Given the description of an element on the screen output the (x, y) to click on. 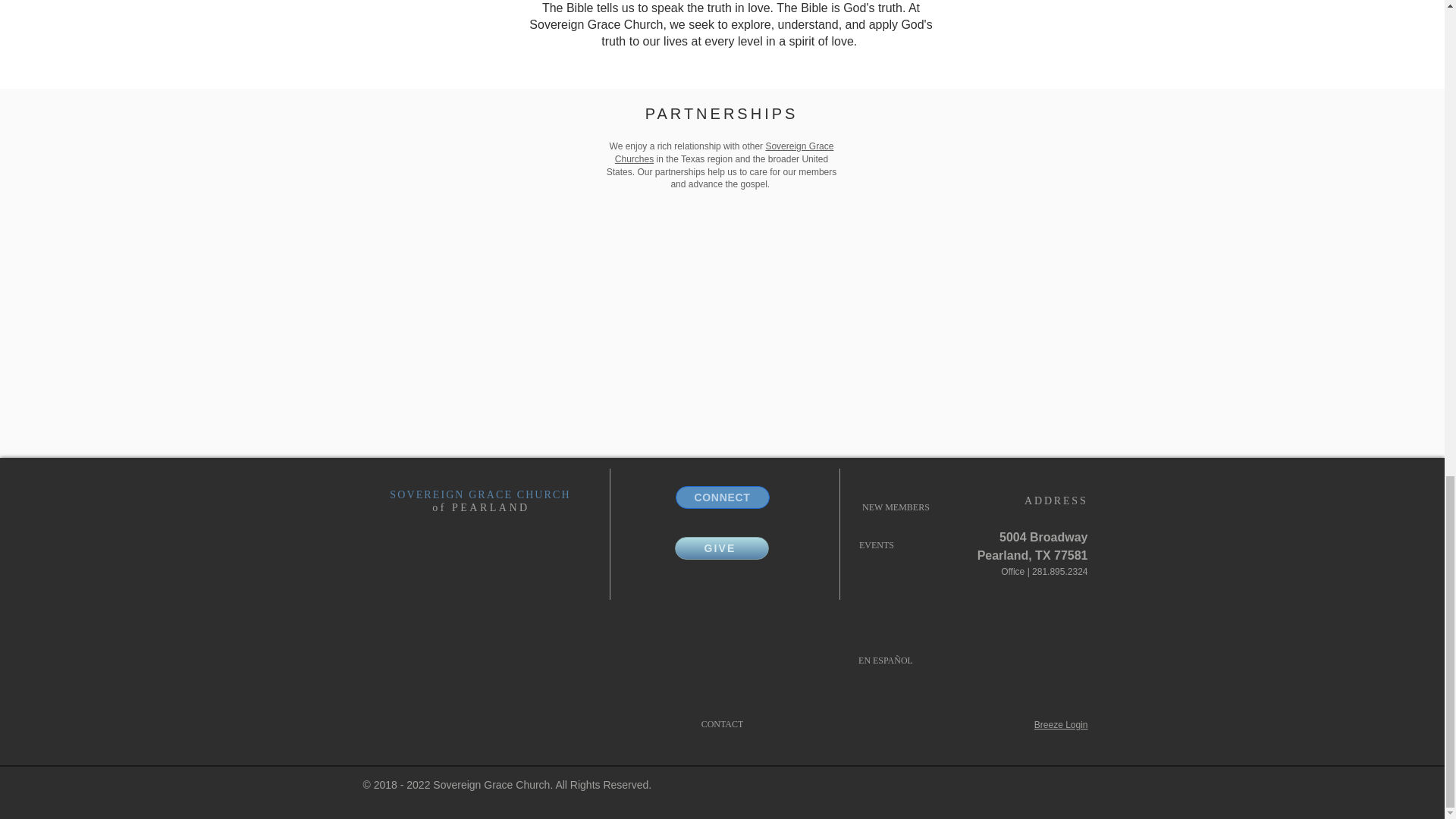
External Vimeo (714, 330)
of PEARLAND (480, 507)
Breeze Login (1060, 724)
CONNECT (721, 497)
EVENTS (875, 545)
SOVEREIGN GRACE CHURCH (480, 494)
NEW MEMBERS (895, 507)
Sovereign Grace Churches (724, 152)
CONTACT (722, 725)
GIVE (721, 548)
